Given the description of an element on the screen output the (x, y) to click on. 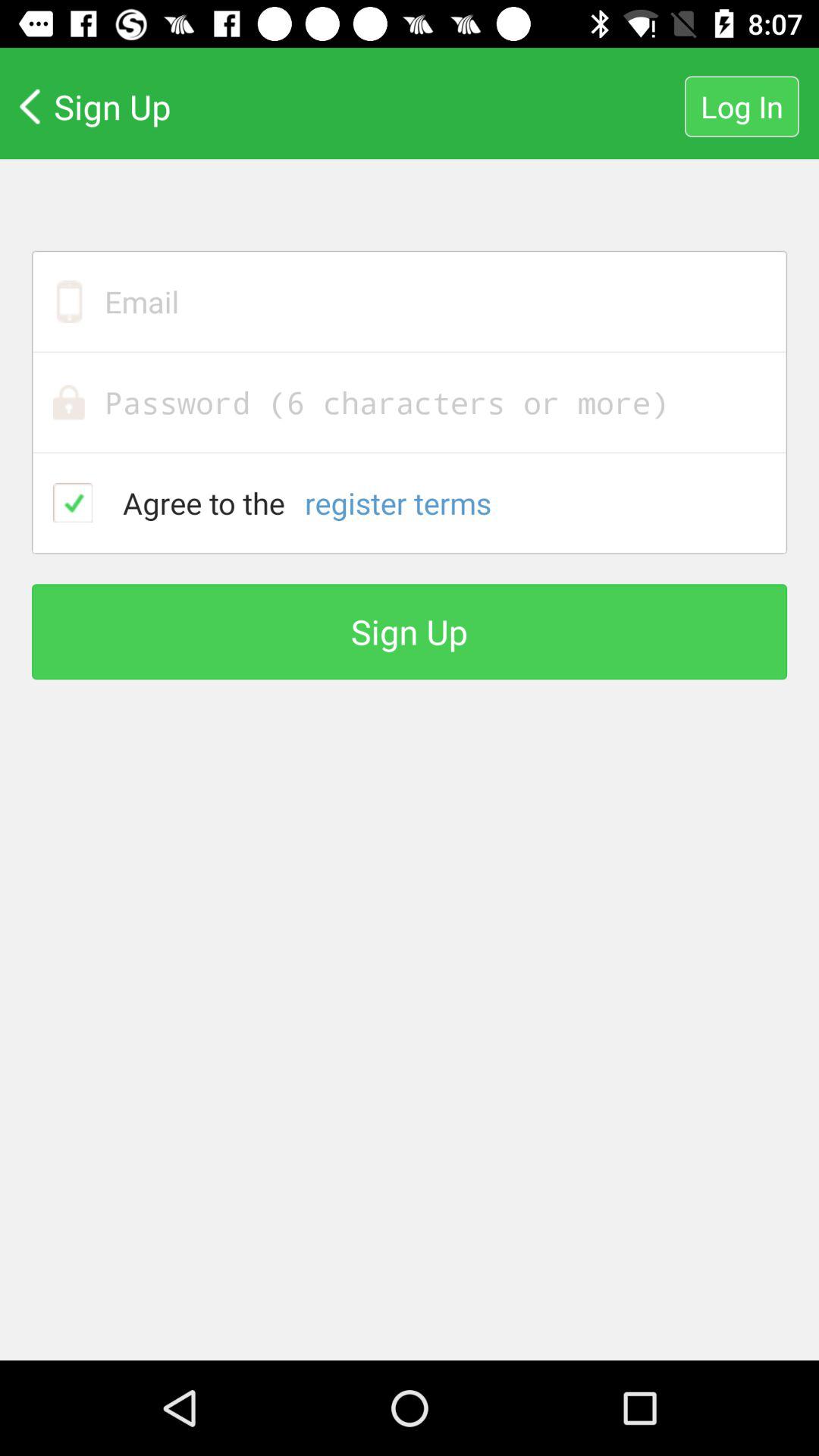
the space is used to enter the password (409, 402)
